Given the description of an element on the screen output the (x, y) to click on. 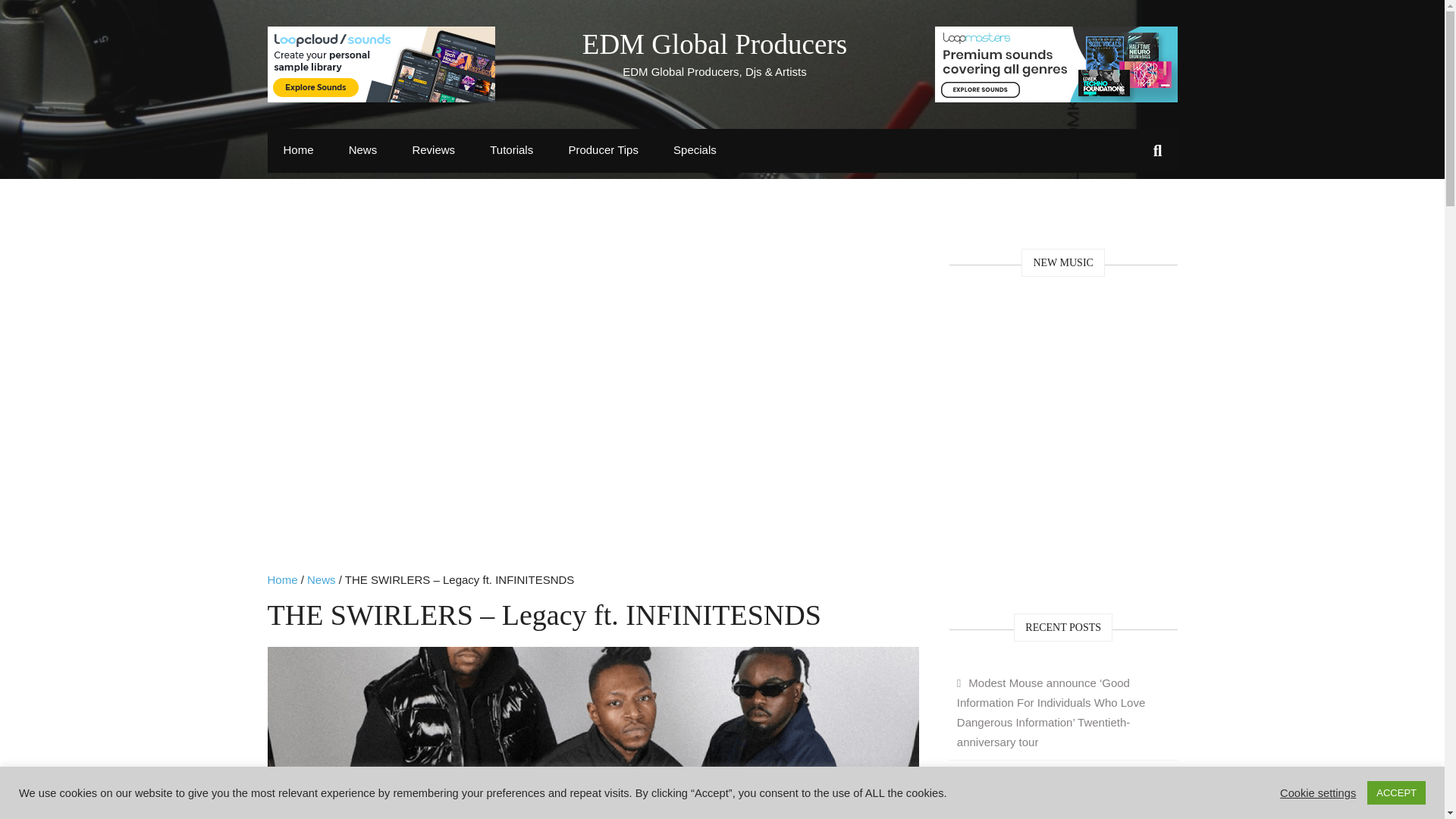
EDM Global Producers (714, 43)
Producer Tips (602, 149)
Loopcloud Sounds (380, 64)
Home (281, 579)
Home (297, 149)
News (363, 149)
Specials (695, 149)
Reviews (433, 149)
Loopmasters Premium Sounds (1055, 64)
